Given the description of an element on the screen output the (x, y) to click on. 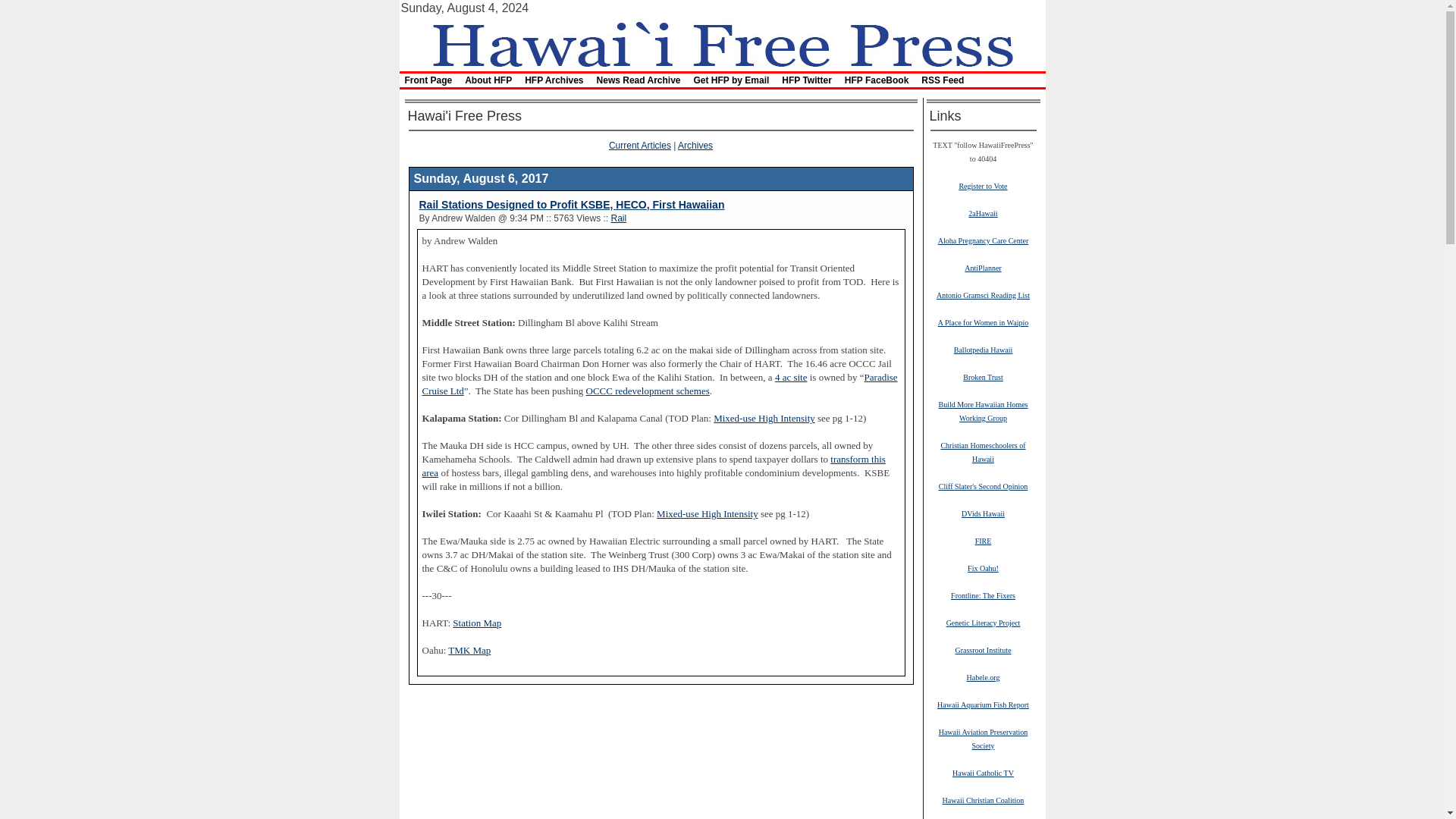
Hawaii Free Press (728, 21)
